Given the description of an element on the screen output the (x, y) to click on. 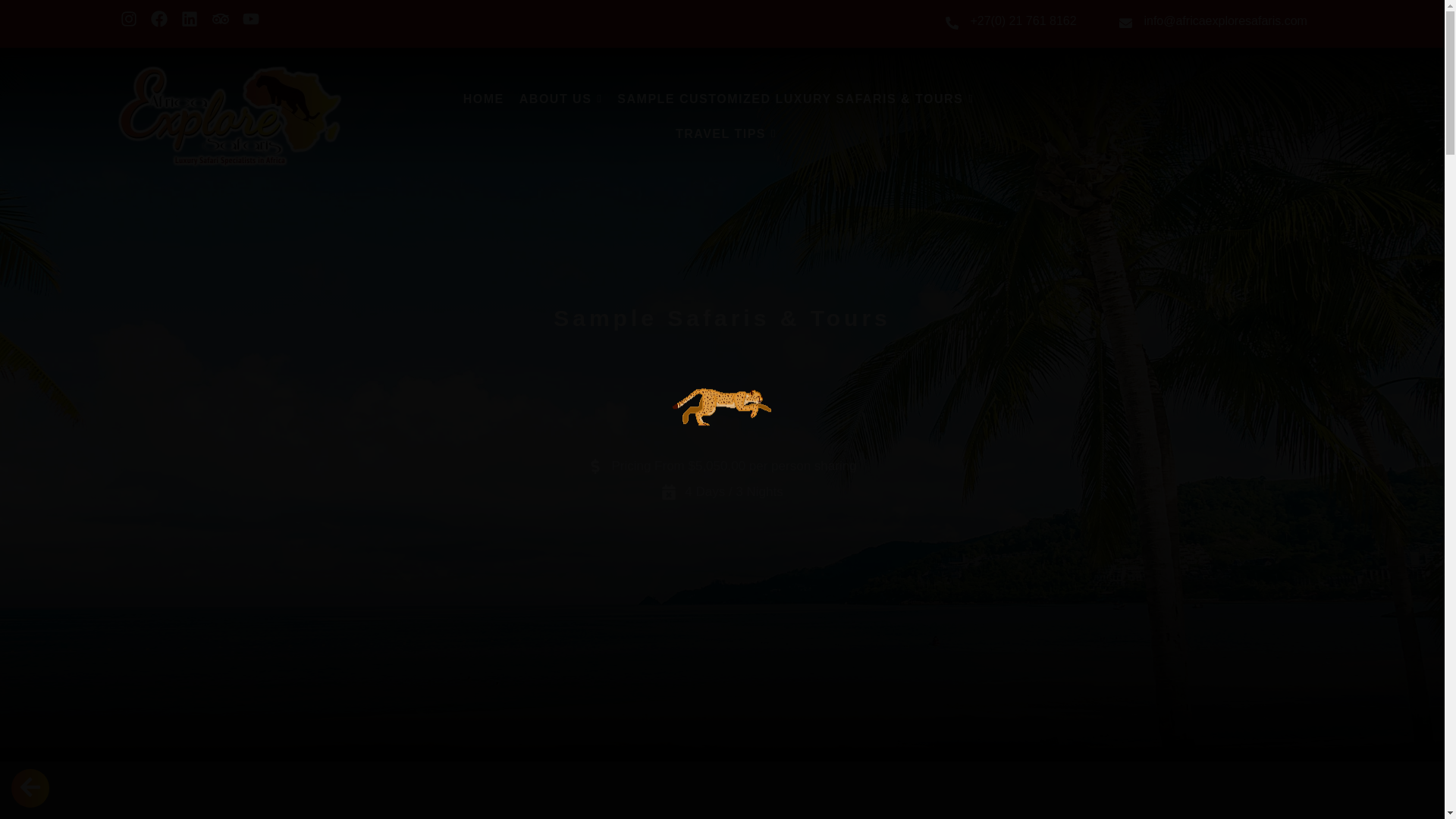
africa-explore-1 (228, 116)
HOME (483, 99)
ABOUT US (560, 99)
